Given the description of an element on the screen output the (x, y) to click on. 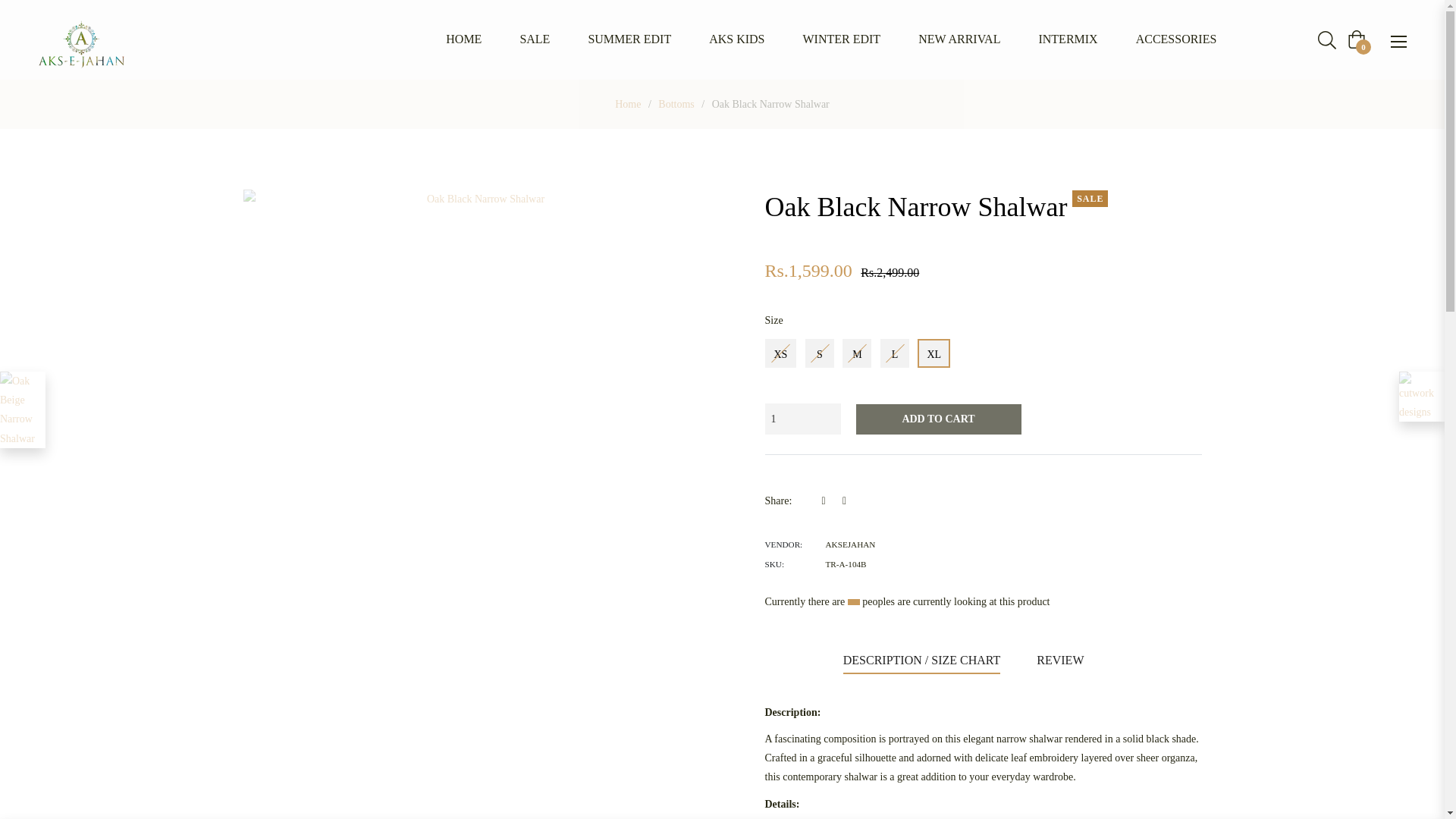
ACCESSORIES (1176, 39)
SUMMER EDIT (629, 39)
Share on Facebook (828, 500)
Shopping Cart (1356, 39)
WINTER EDIT (841, 39)
INTERMIX (1067, 39)
AKS KIDS (736, 39)
1 (802, 418)
